Given the description of an element on the screen output the (x, y) to click on. 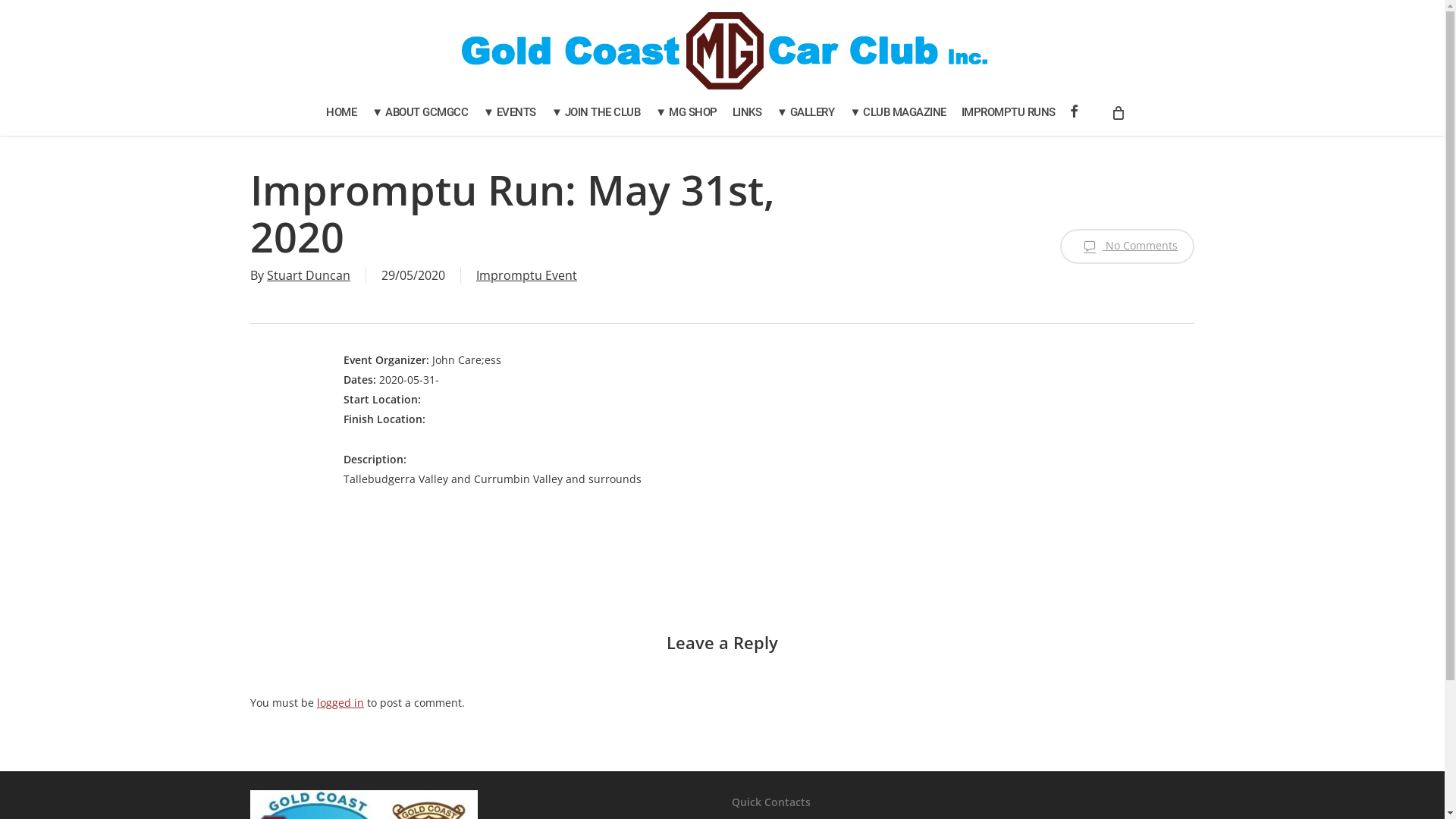
FACEBOOK Element type: text (1073, 111)
LINKS Element type: text (747, 111)
HOME Element type: text (341, 111)
No Comments Element type: text (1127, 246)
Impromptu Event Element type: text (526, 274)
IMPROMPTU RUNS Element type: text (1008, 111)
logged in Element type: text (340, 702)
Stuart Duncan Element type: text (308, 274)
